Given the description of an element on the screen output the (x, y) to click on. 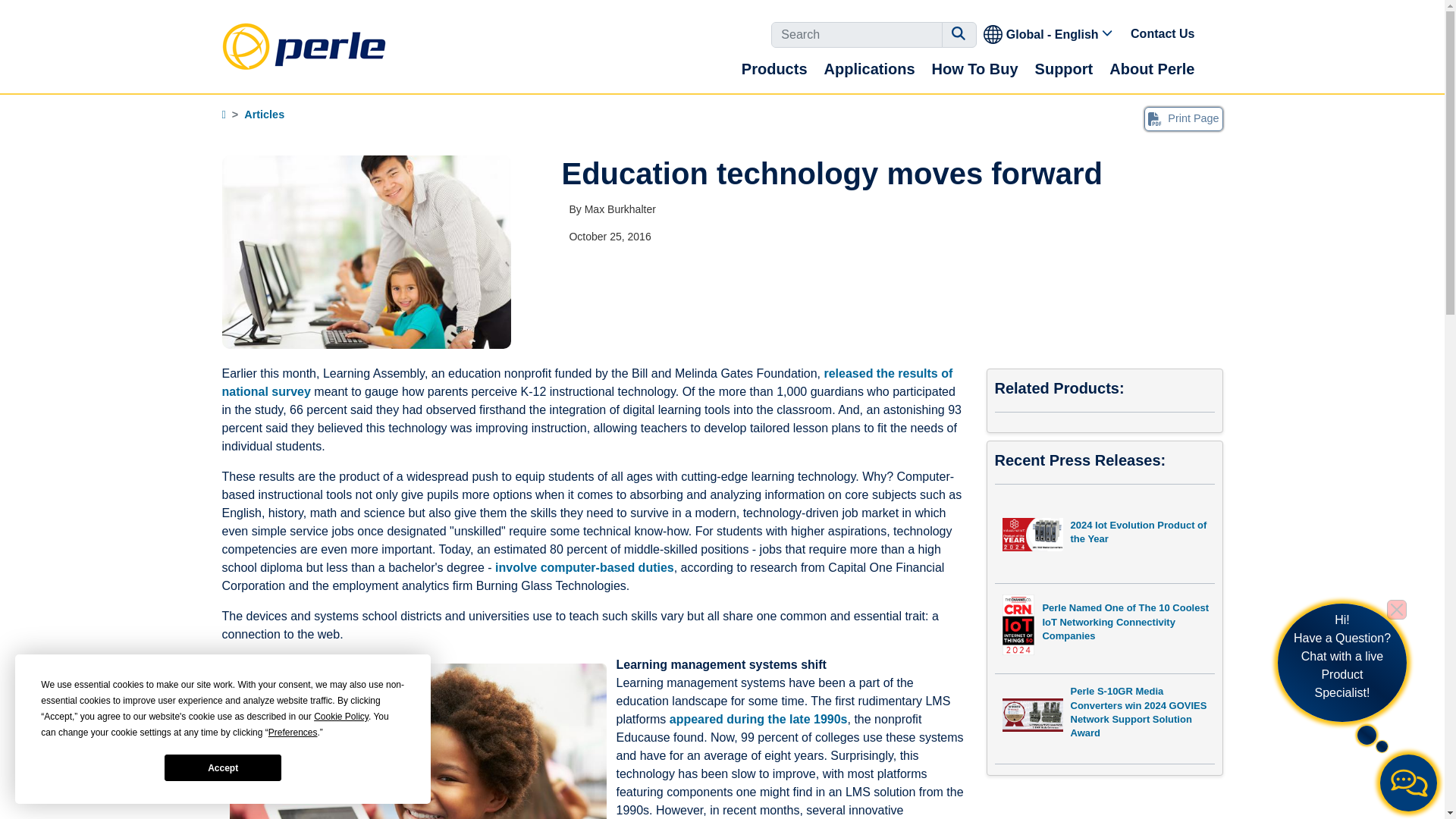
How To Buy (974, 68)
appeared during the late 1990s (758, 718)
Perle Logo (303, 46)
Global - English (1048, 34)
Applications (868, 68)
involve computer-based duties (584, 567)
2024 Iot Evolution Product of the Year (1104, 537)
Contact Us (1162, 33)
Articles (263, 114)
Support (1063, 68)
Articles (263, 114)
released the results of national survey (586, 382)
Products (774, 68)
